Given the description of an element on the screen output the (x, y) to click on. 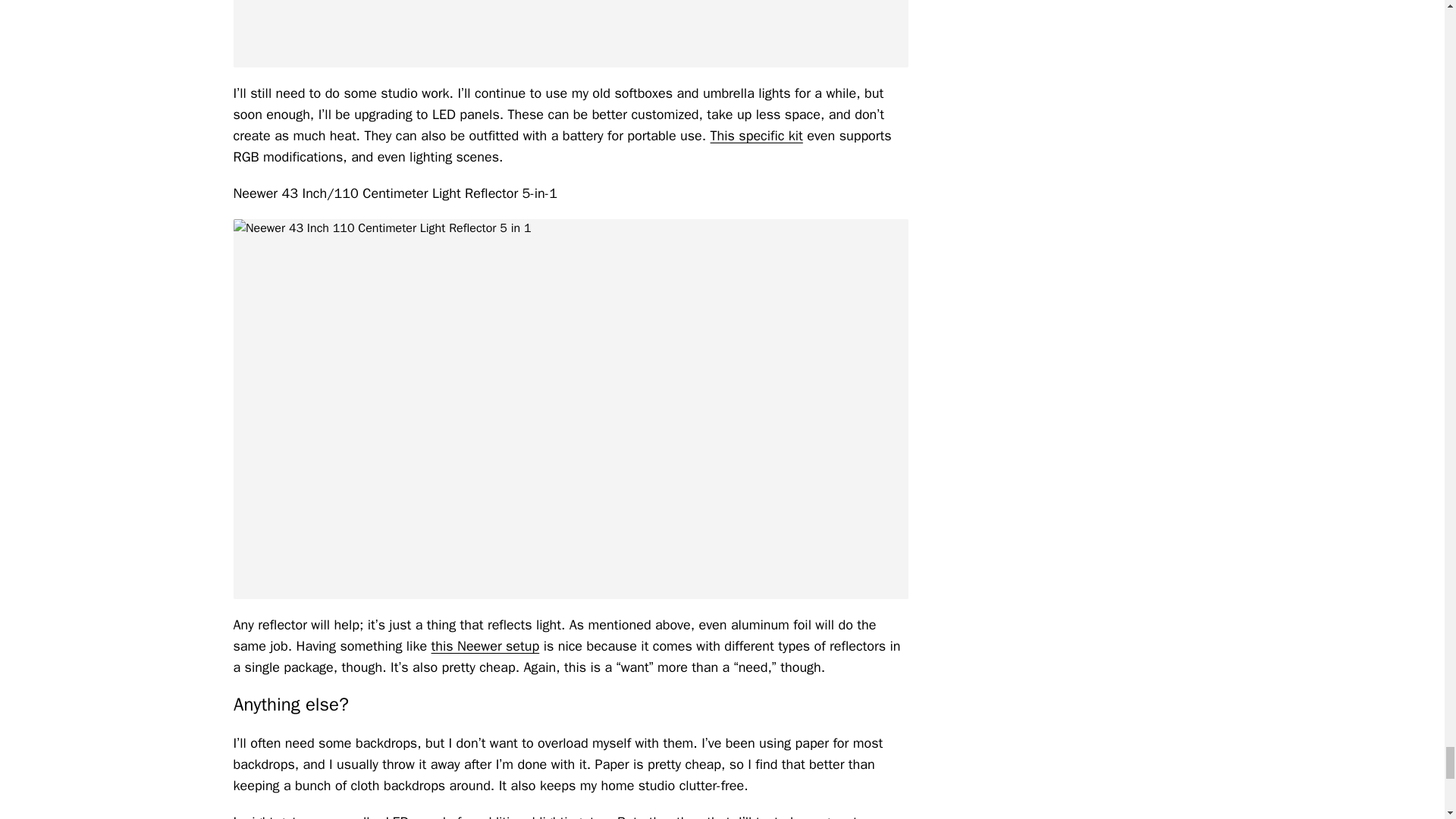
This specific kit (756, 135)
this Neewer setup (485, 646)
